Given the description of an element on the screen output the (x, y) to click on. 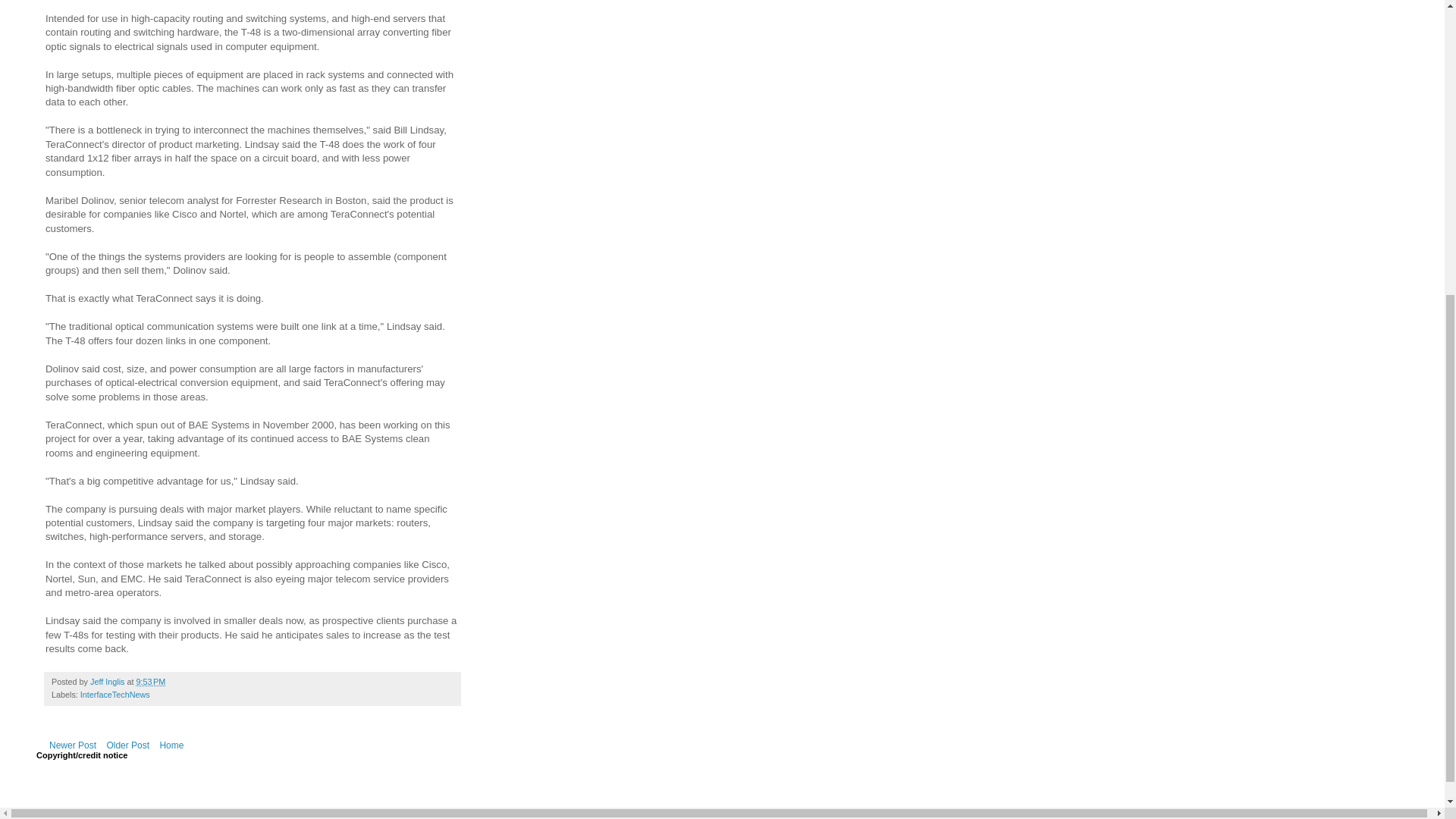
Newer Post (72, 745)
InterfaceTechNews (114, 694)
Jeff Inglis (108, 681)
Older Post (126, 745)
Older Post (126, 745)
permanent link (150, 681)
Home (171, 745)
Newer Post (72, 745)
author profile (108, 681)
